Given the description of an element on the screen output the (x, y) to click on. 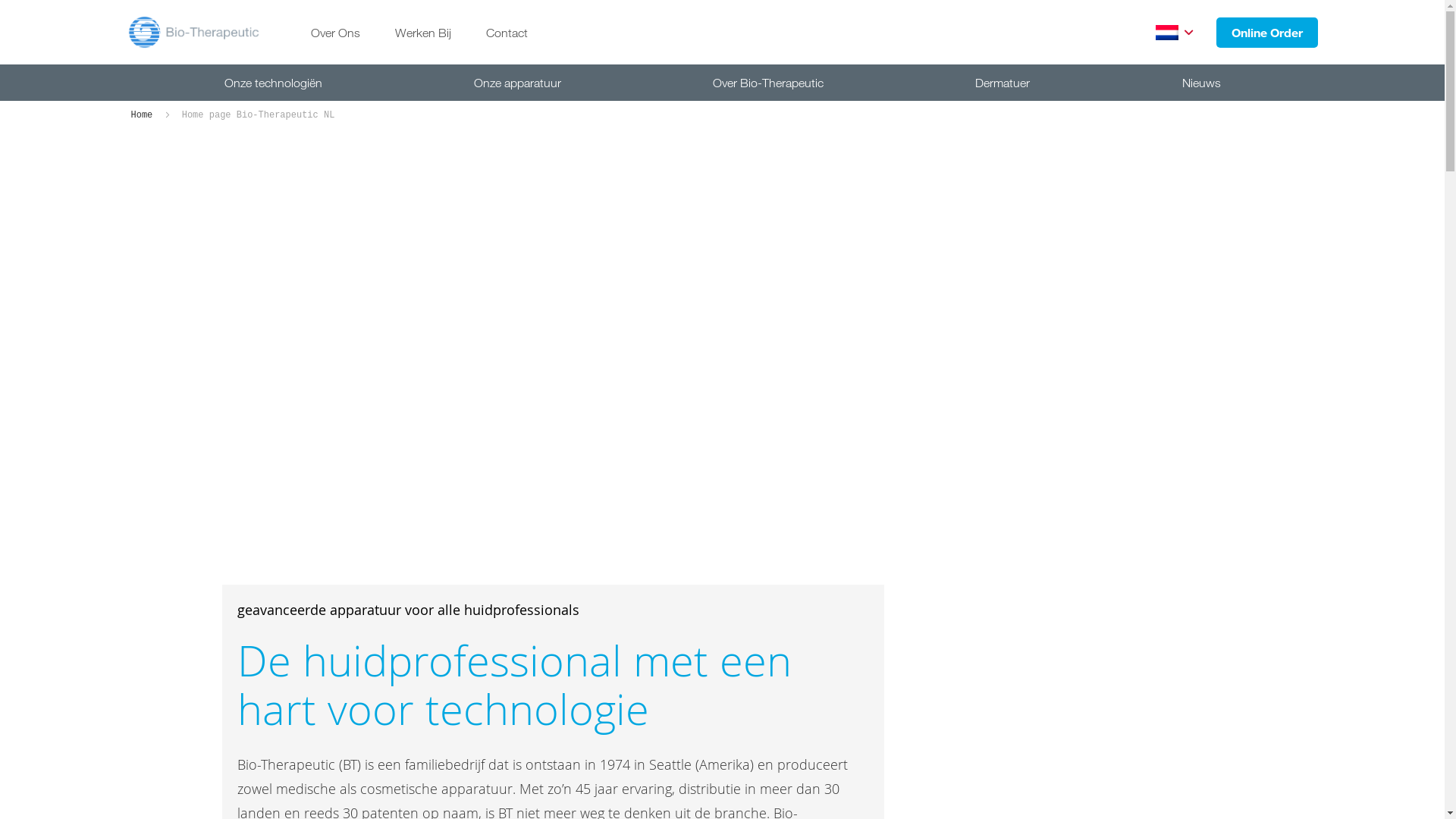
Home Element type: text (143, 114)
Nieuws Element type: text (1200, 82)
Dermatuer Element type: text (1002, 82)
Over Bio-Therapeutic Element type: text (767, 82)
Onze apparatuur Element type: text (517, 82)
Online Order Element type: text (1266, 31)
Werken Bij Element type: text (422, 32)
Over Ons Element type: text (335, 32)
Contact Element type: text (506, 32)
